Given the description of an element on the screen output the (x, y) to click on. 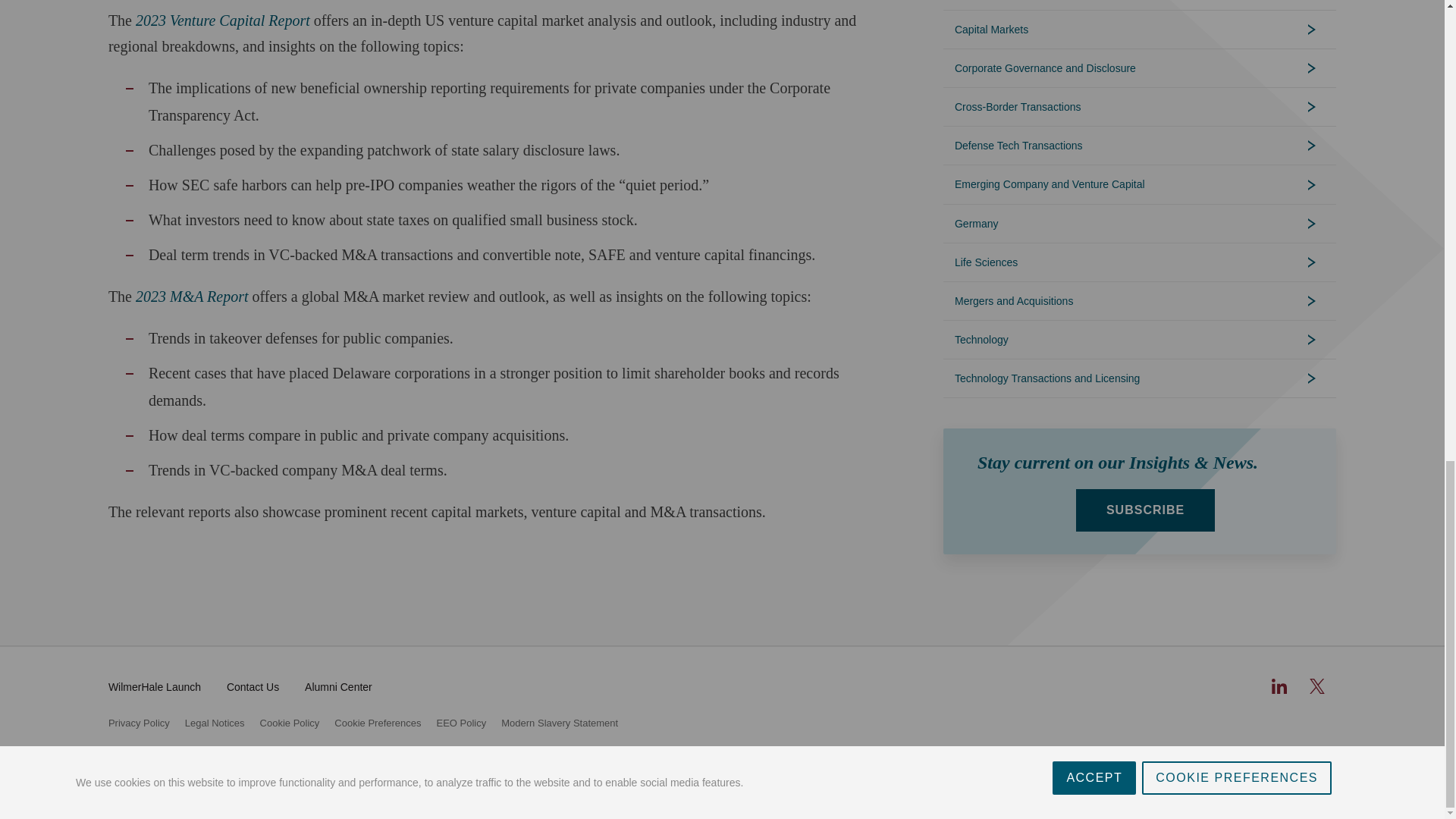
WilmerHale on LinkedIn (1279, 685)
Corporate Governance and Disclosure (1139, 67)
Capital Markets (1139, 29)
WilmerHale on X (1316, 685)
